Given the description of an element on the screen output the (x, y) to click on. 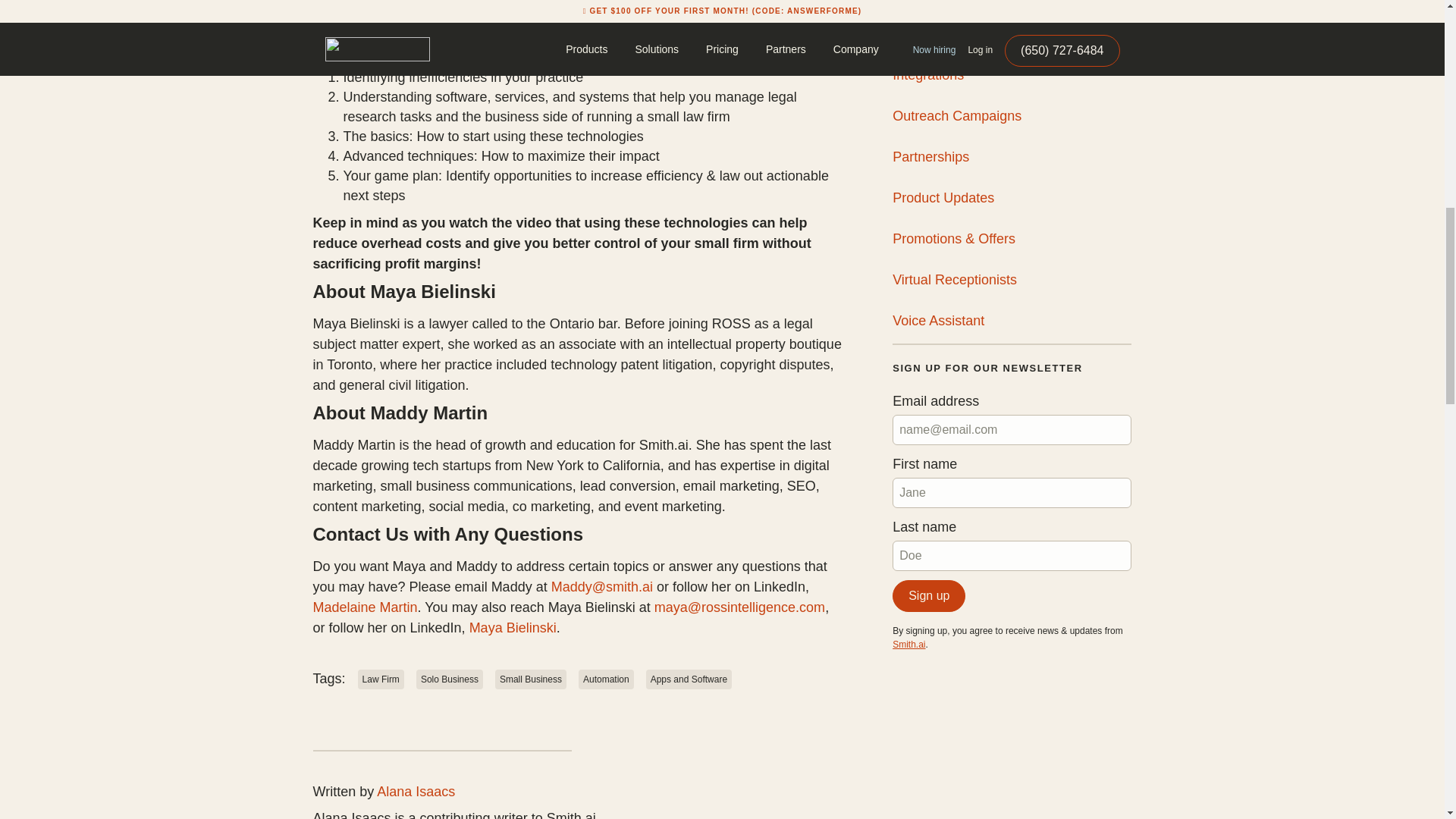
Sign up (928, 595)
